Given the description of an element on the screen output the (x, y) to click on. 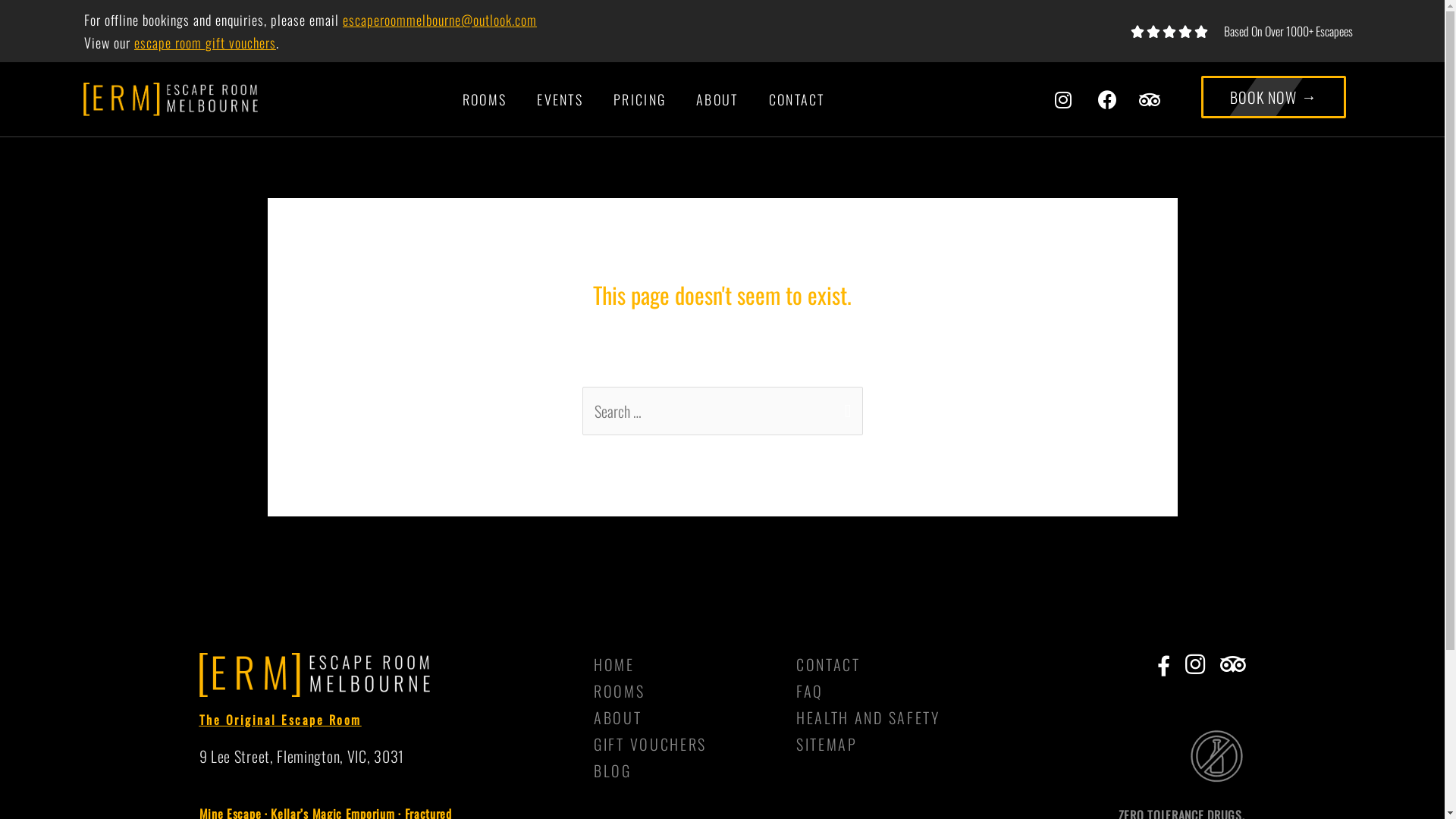
EVENTS Element type: text (559, 99)
HEALTH AND SAFETY Element type: text (893, 717)
ABOUT Element type: text (717, 99)
SITEMAP Element type: text (893, 743)
The Original Escape Room Element type: text (279, 719)
escape room gift vouchers Element type: text (205, 42)
escape-logo Element type: hover (313, 674)
ROOMS Element type: text (484, 99)
ROOMS Element type: text (687, 690)
CONTACT Element type: text (893, 663)
GIFT VOUCHERS Element type: text (687, 743)
PRICING Element type: text (639, 99)
BLOG Element type: text (687, 770)
CONTACT Element type: text (796, 99)
escaperoommelbourne@outlook.com Element type: text (439, 19)
Search Element type: text (845, 403)
ABOUT Element type: text (687, 717)
FAQ Element type: text (893, 690)
BOOK NOW Element type: text (1273, 96)
HOME Element type: text (687, 663)
